Given the description of an element on the screen output the (x, y) to click on. 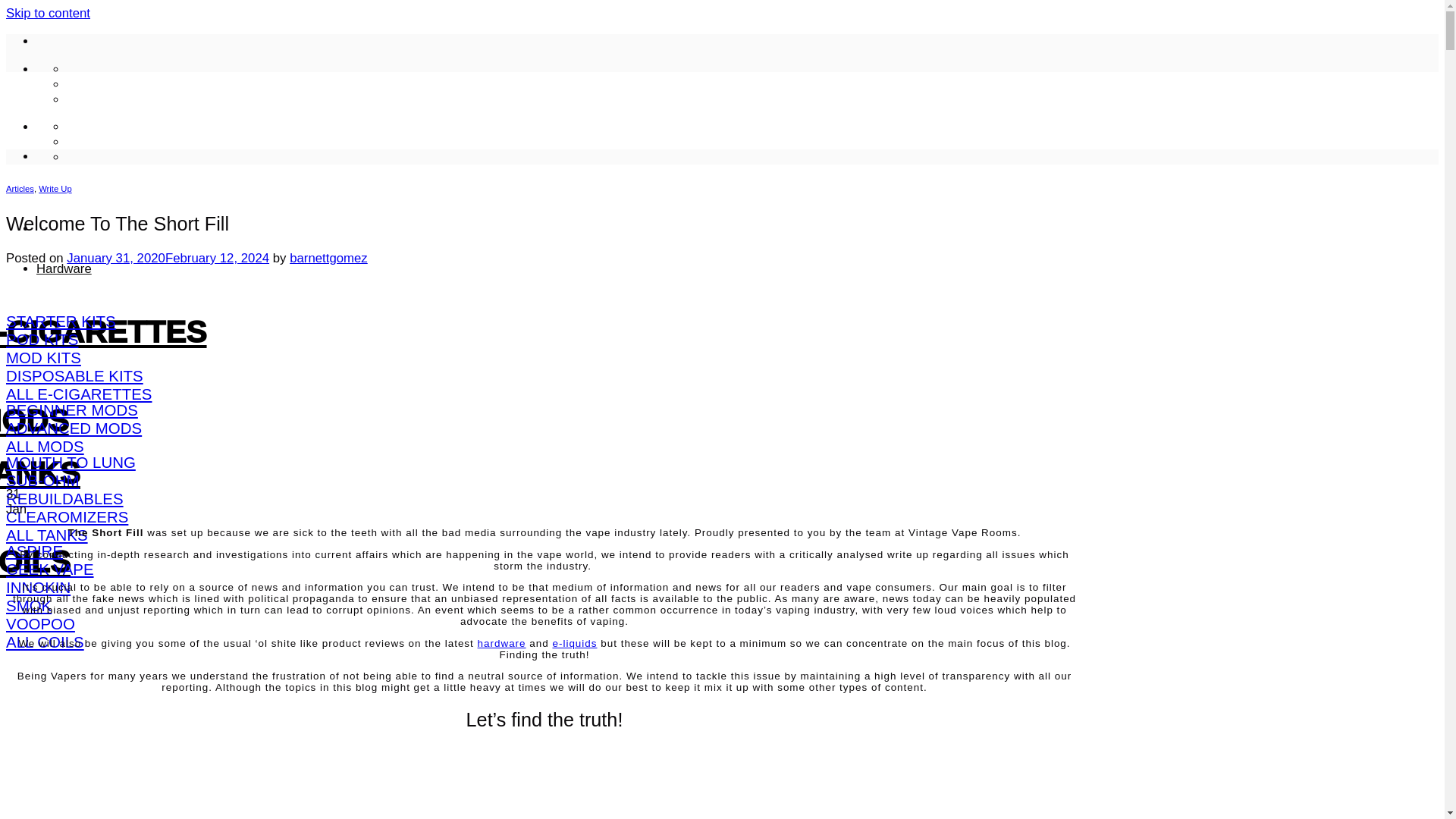
Vintage Vape Rooms - A Vapers Sanctuary (199, 166)
COILS (34, 561)
ADVANCED MODS (73, 427)
POD KITS (41, 339)
VOOPOO (40, 623)
SMOK (27, 605)
MODS (34, 420)
ASPIRE (33, 550)
ALL MODS (44, 446)
SUB-OHM (42, 479)
BEGINNER MODS (71, 409)
DISPOSABLE KITS (73, 375)
ALL TANKS (46, 534)
CLEAROMIZERS (66, 516)
MOUTH TO LUNG (70, 461)
